Given the description of an element on the screen output the (x, y) to click on. 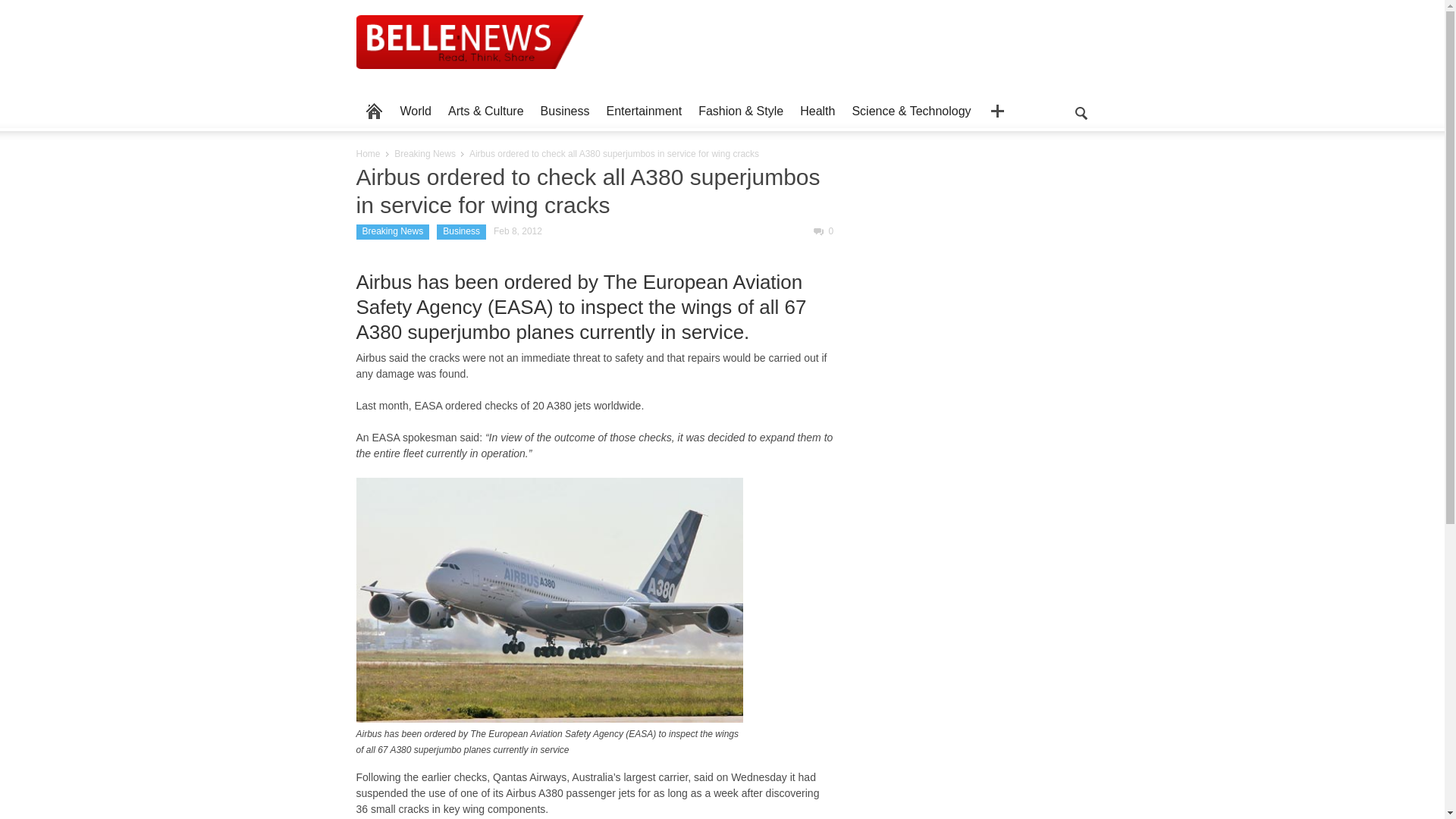
View all posts in Breaking News (424, 153)
World (415, 111)
Business (565, 111)
Entertainment (644, 111)
Breaking News (424, 153)
Belle News (469, 53)
More menus (996, 111)
Health (817, 111)
Home (368, 153)
